Given the description of an element on the screen output the (x, y) to click on. 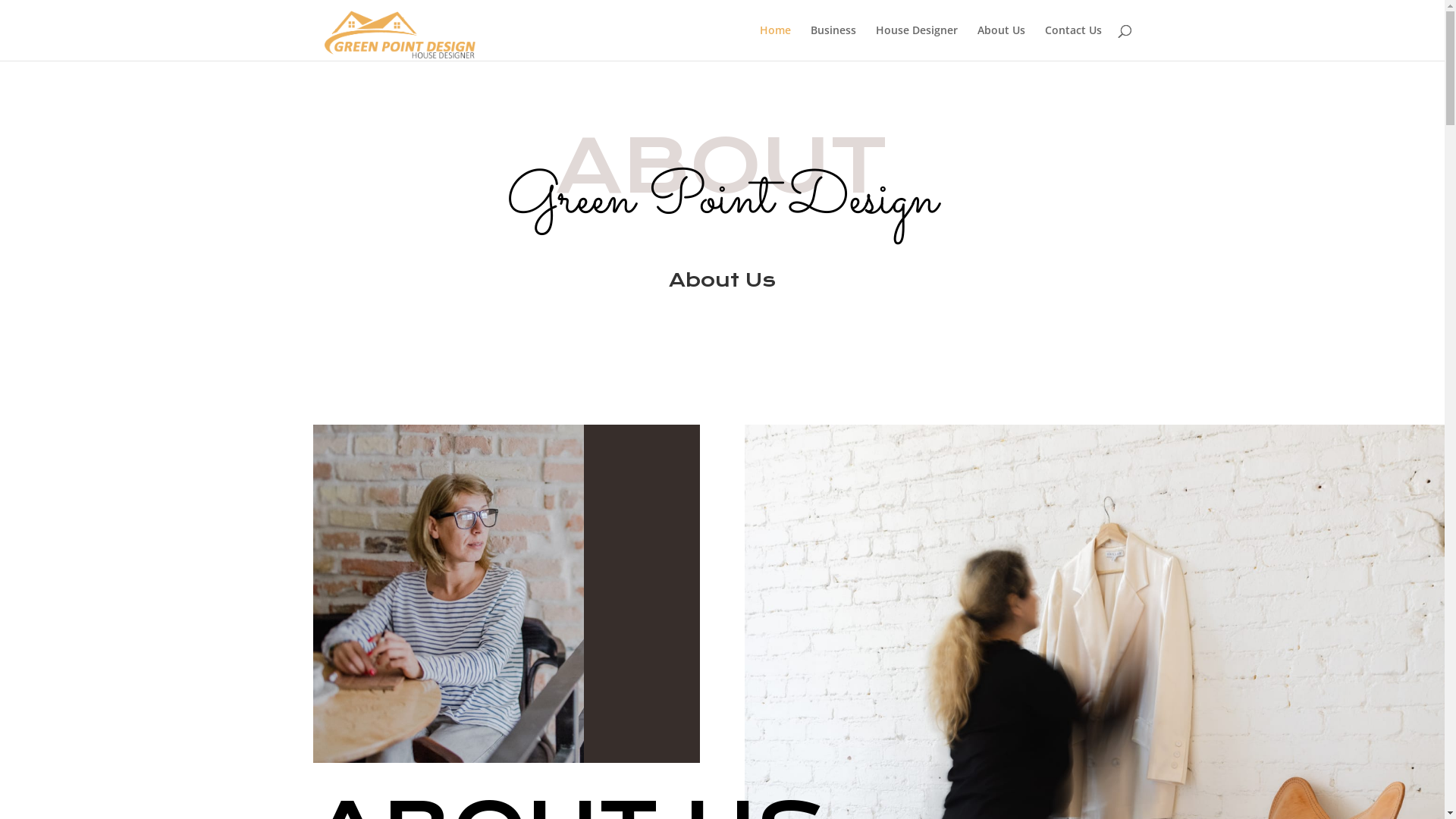
Business Element type: text (832, 42)
About Us Element type: text (1000, 42)
Home Element type: text (774, 42)
Contact Us Element type: text (1072, 42)
House Designer Element type: text (916, 42)
interior-designer-21 Element type: hover (447, 593)
